Given the description of an element on the screen output the (x, y) to click on. 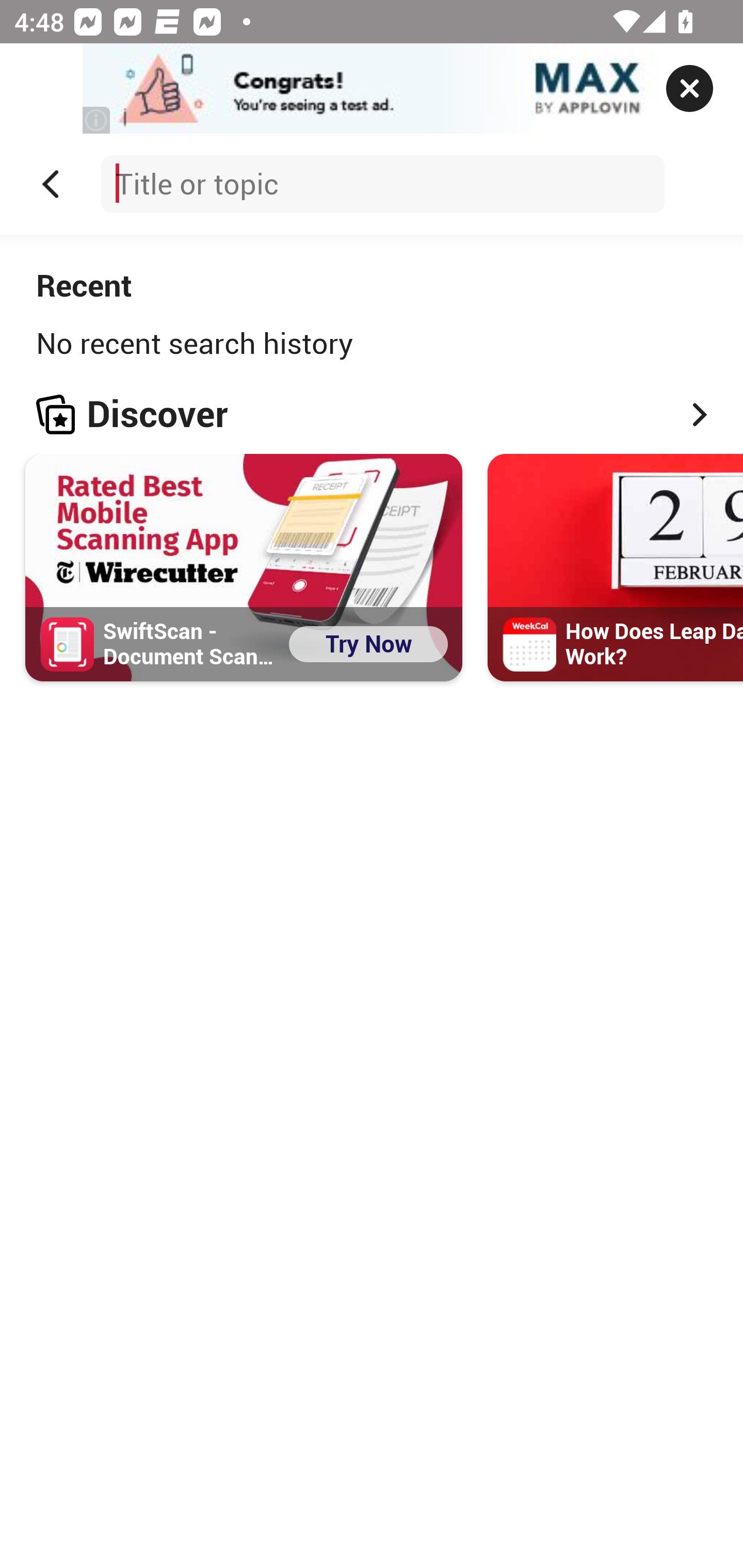
app-monetization (371, 88)
(i) (96, 119)
Collapse (50, 184)
Title or topic (382, 184)
Discover (371, 413)
SwiftScan - Document Scanner & PDF Editor Try Now (243, 567)
Try Now (368, 643)
